Given the description of an element on the screen output the (x, y) to click on. 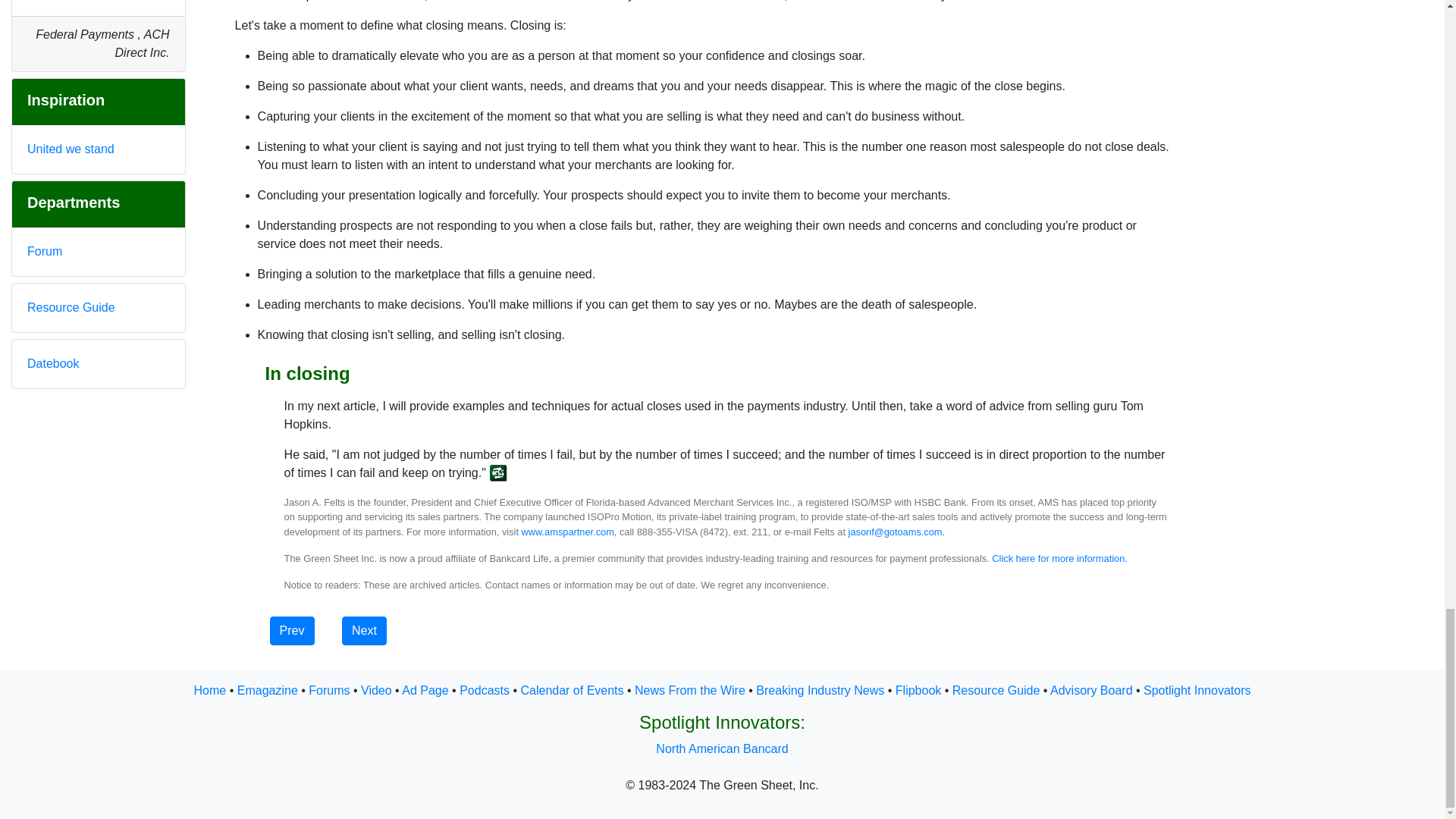
www.amspartner.com (567, 531)
Next (364, 630)
Click here for more information. (1058, 558)
Prev (291, 630)
